Given the description of an element on the screen output the (x, y) to click on. 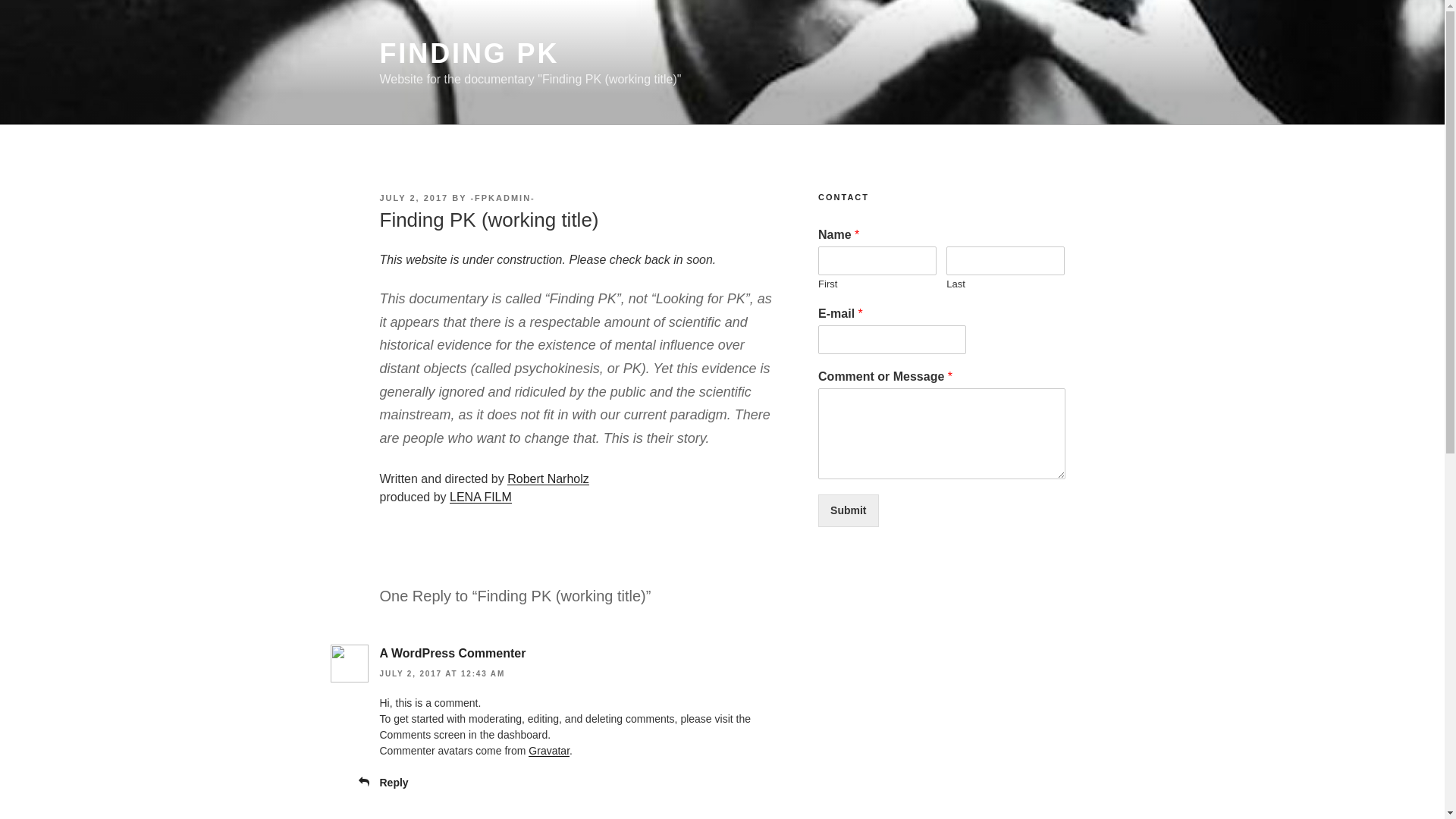
-FPKADMIN- (502, 197)
LENA FILM (480, 496)
A WordPress Commenter (451, 653)
JULY 2, 2017 (413, 197)
FINDING PK (468, 52)
Robert Narholz (547, 478)
Gravatar (548, 750)
Submit (847, 510)
JULY 2, 2017 AT 12:43 AM (441, 673)
Reply (392, 782)
